Given the description of an element on the screen output the (x, y) to click on. 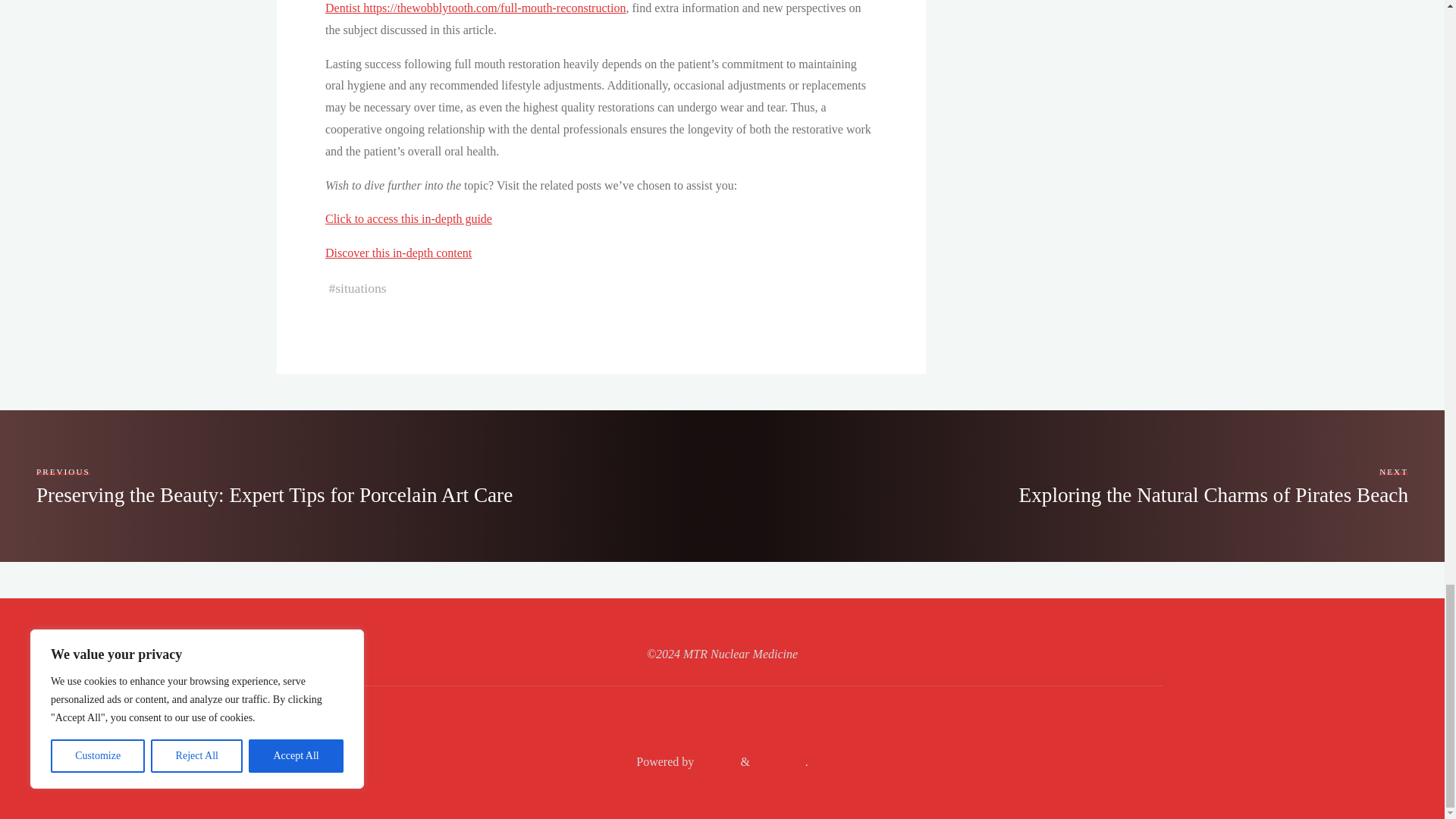
Click to access this in-depth guide (408, 218)
situations (359, 287)
Discover this in-depth content (397, 252)
Bravada WordPress Theme by Cryout Creations (715, 761)
Semantic Personal Publishing Platform (778, 761)
